Given the description of an element on the screen output the (x, y) to click on. 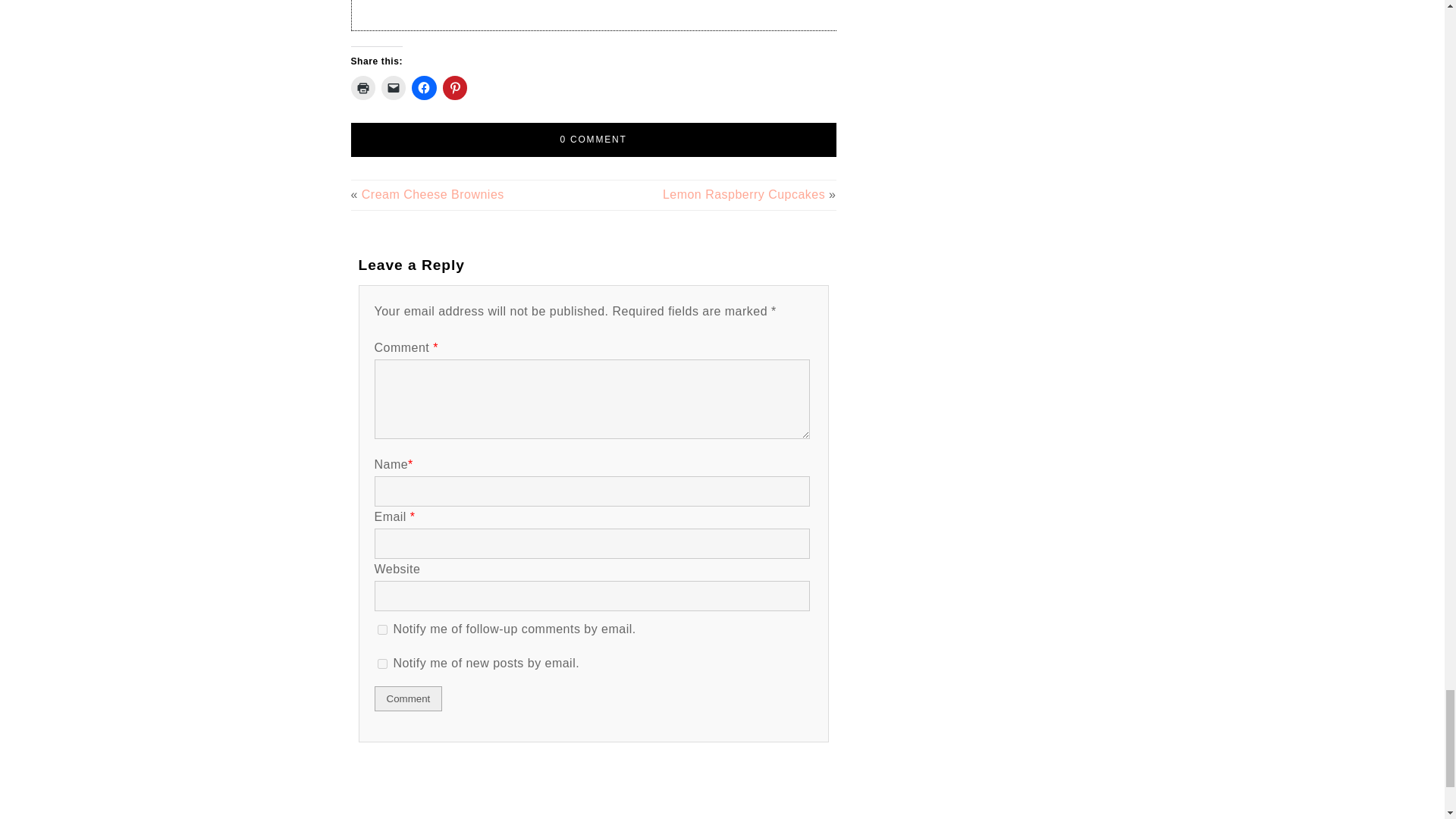
Click to share on Pinterest (454, 87)
subscribe (382, 629)
Comment (408, 698)
Cream Cheese Brownies (432, 194)
subscribe (382, 664)
Lemon Raspberry Cupcakes (743, 194)
0 COMMENT (592, 139)
Click to print (362, 87)
Click to share on Facebook (423, 87)
Click to email a link to a friend (393, 87)
